Given the description of an element on the screen output the (x, y) to click on. 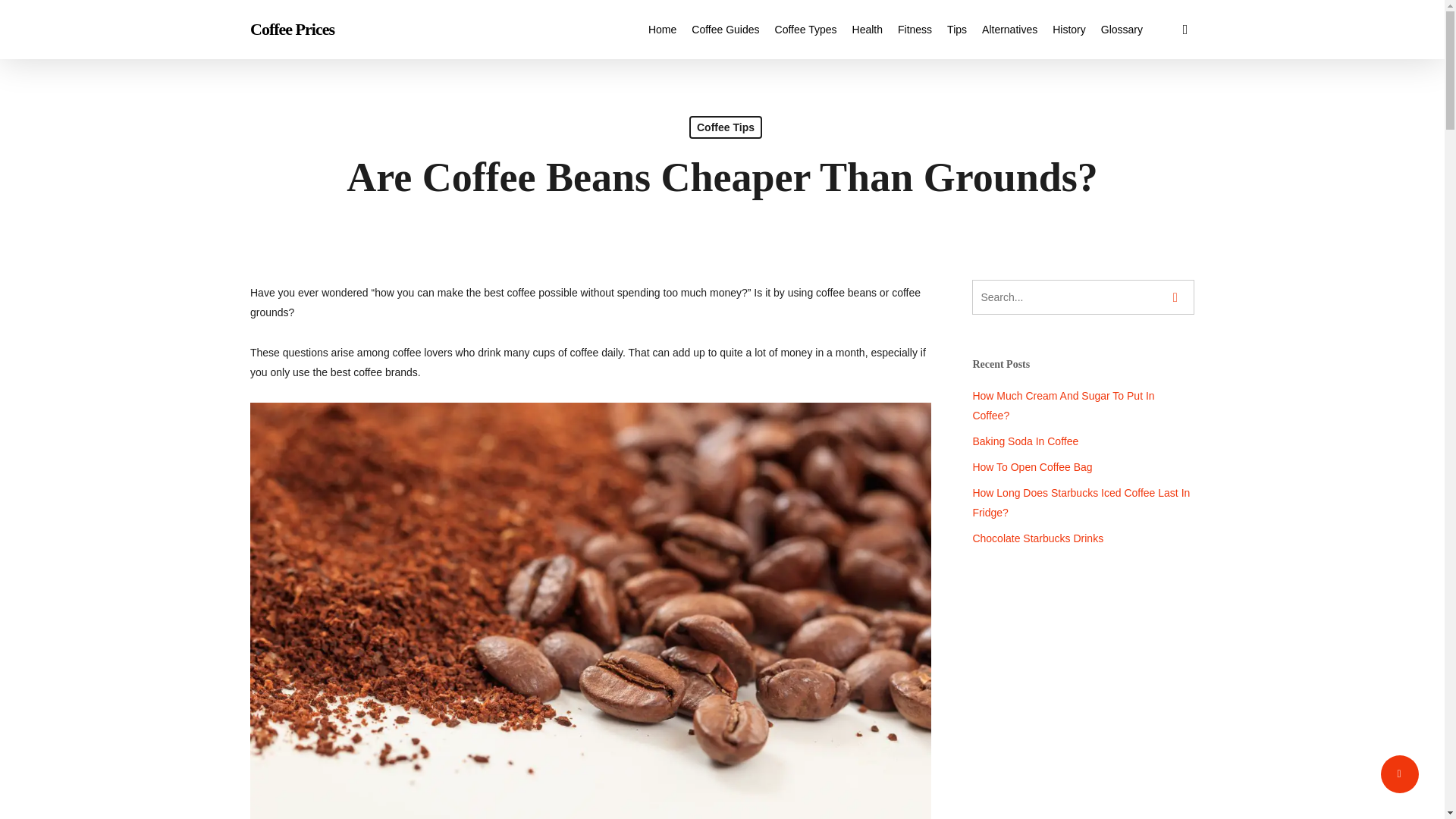
Coffee Types (805, 29)
Home (662, 29)
How Much Cream And Sugar To Put In Coffee? (1082, 405)
Search for: (1082, 297)
Health (866, 29)
Glossary (1121, 29)
History (1069, 29)
Baking Soda In Coffee (1082, 441)
Coffee Tips (724, 127)
Fitness (914, 29)
